Given the description of an element on the screen output the (x, y) to click on. 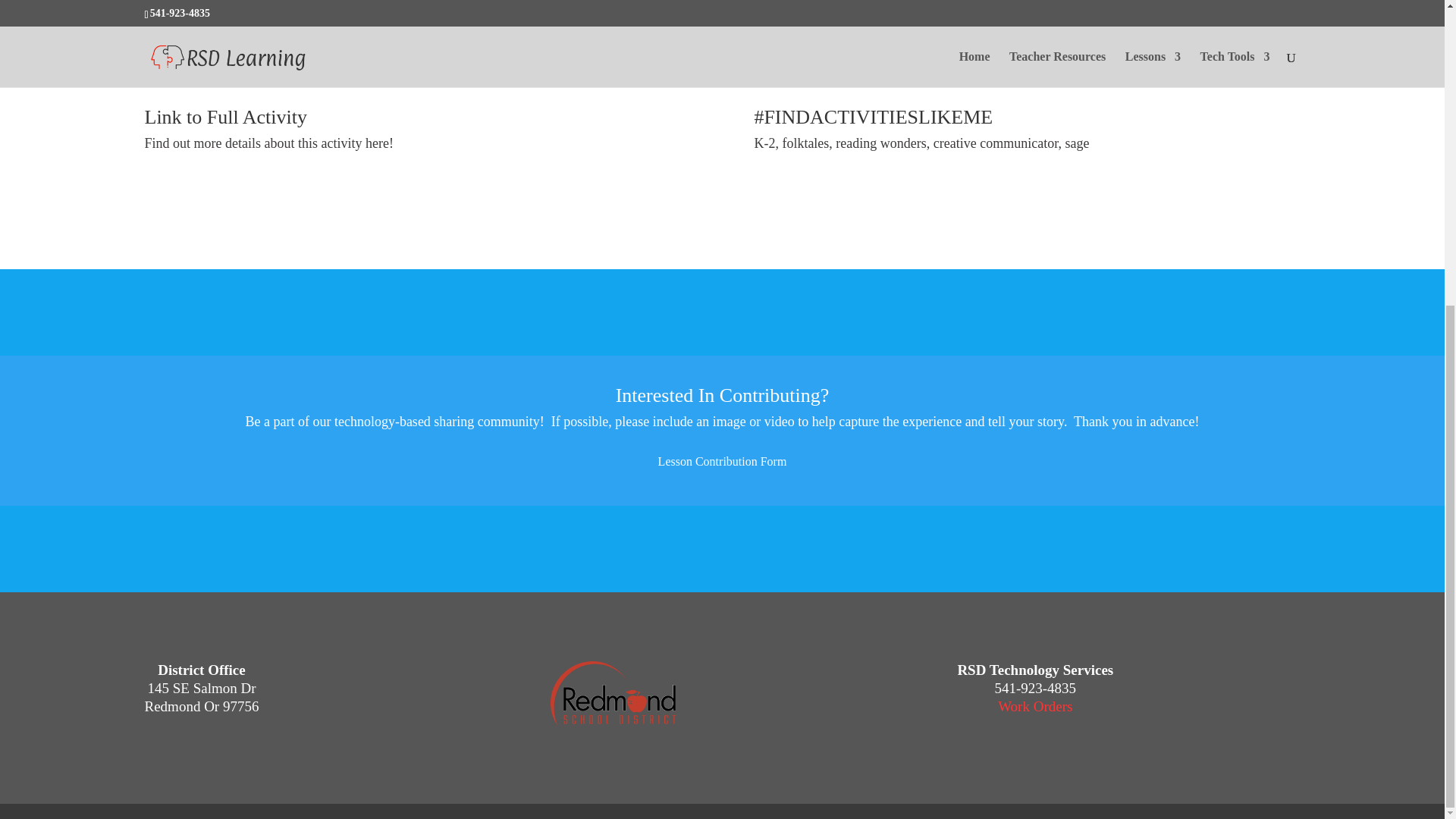
Lesson Contribution Form (722, 461)
Link to Full Activity (225, 116)
Work Orders (1034, 706)
